Given the description of an element on the screen output the (x, y) to click on. 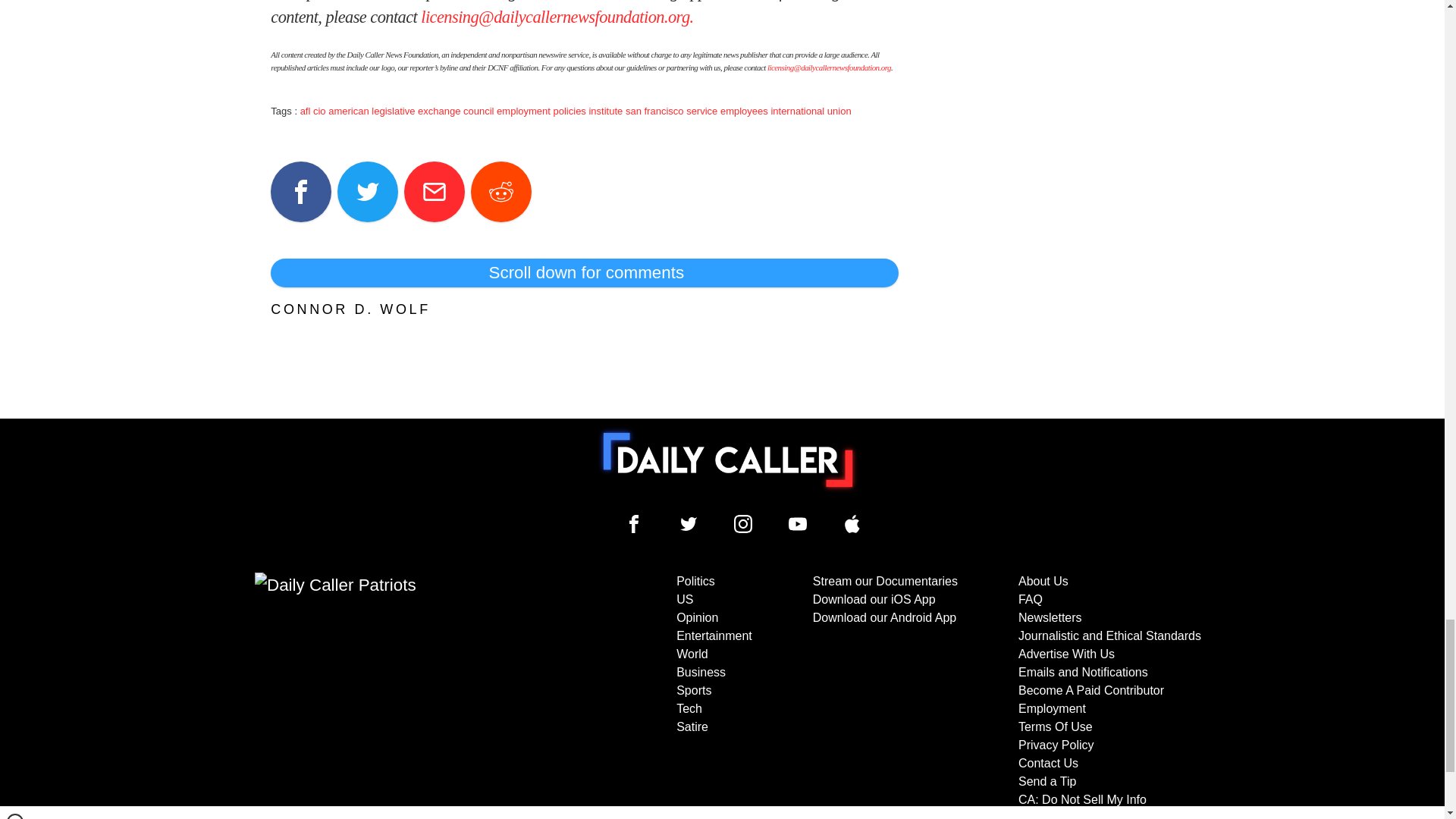
Daily Caller YouTube (797, 524)
To home page (727, 460)
Daily Caller Facebook (633, 524)
Daily Caller Instagram (742, 524)
Daily Caller Twitter (688, 524)
Scroll down for comments (584, 272)
Daily Caller YouTube (852, 524)
Subscribe to The Daily Caller (405, 695)
